Given the description of an element on the screen output the (x, y) to click on. 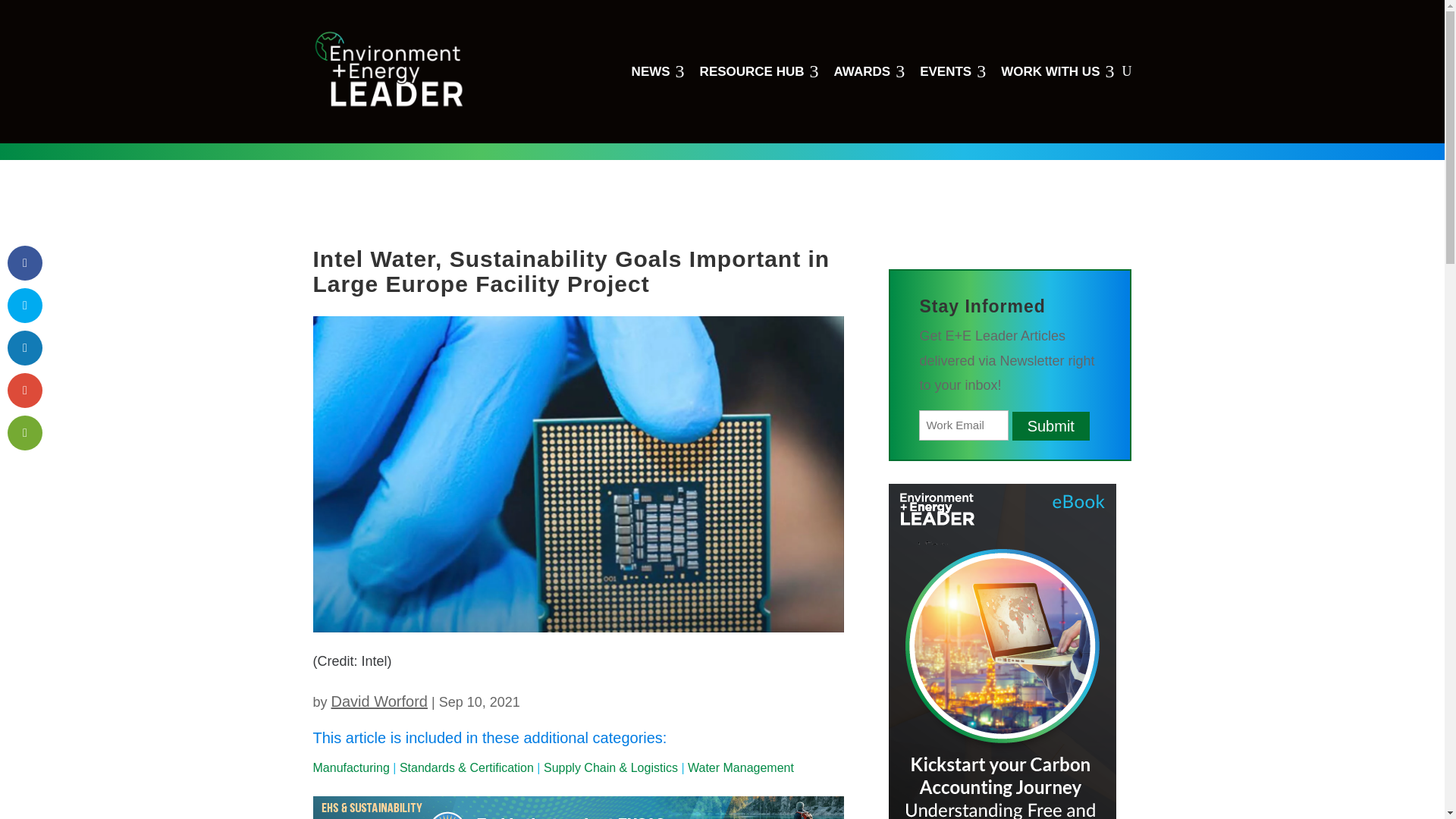
Posts by David Worford (759, 71)
Submit (1057, 71)
